Given the description of an element on the screen output the (x, y) to click on. 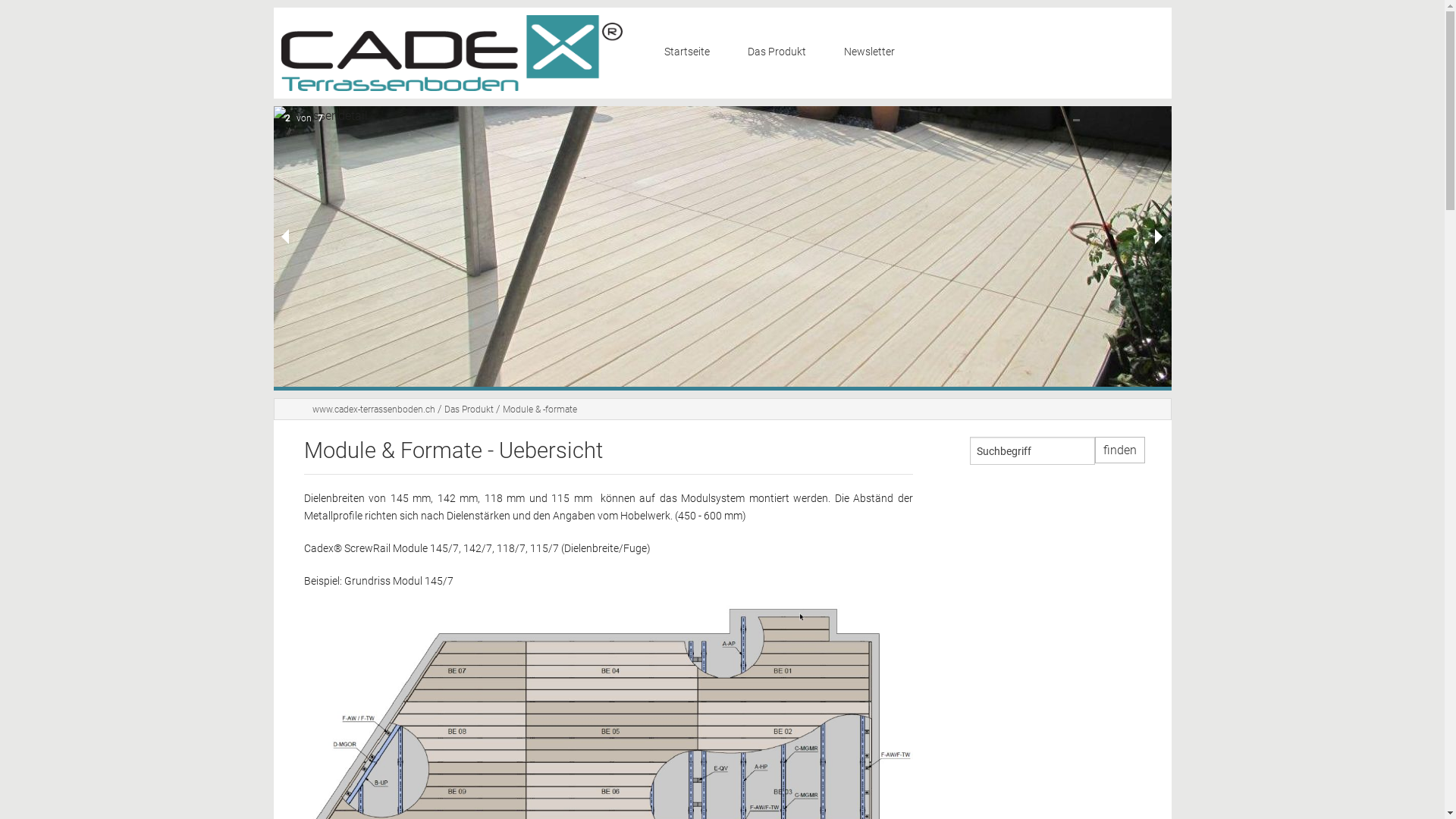
Ihre Vorteile Element type: text (793, 89)
Module & -formate Element type: text (793, 162)
Das Produkt Element type: text (783, 52)
Suchbegriff hier eingeben Element type: hover (1031, 450)
Module & -formate Element type: text (539, 409)
Einsatzbereiche Element type: text (793, 125)
Startseite Element type: text (693, 52)
Downloads Element type: text (793, 307)
Terrassenholz Element type: text (793, 234)
Universalprofil Element type: text (793, 198)
Newsletter Element type: text (869, 52)
Referenbilder Element type: text (793, 271)
finden Element type: text (1120, 449)
Das Produkt Element type: text (468, 409)
www.cadex-terrassenboden.ch Element type: text (373, 409)
  Element type: hover (721, 246)
Cadex Terrassenboden Logo Element type: hover (451, 52)
